Given the description of an element on the screen output the (x, y) to click on. 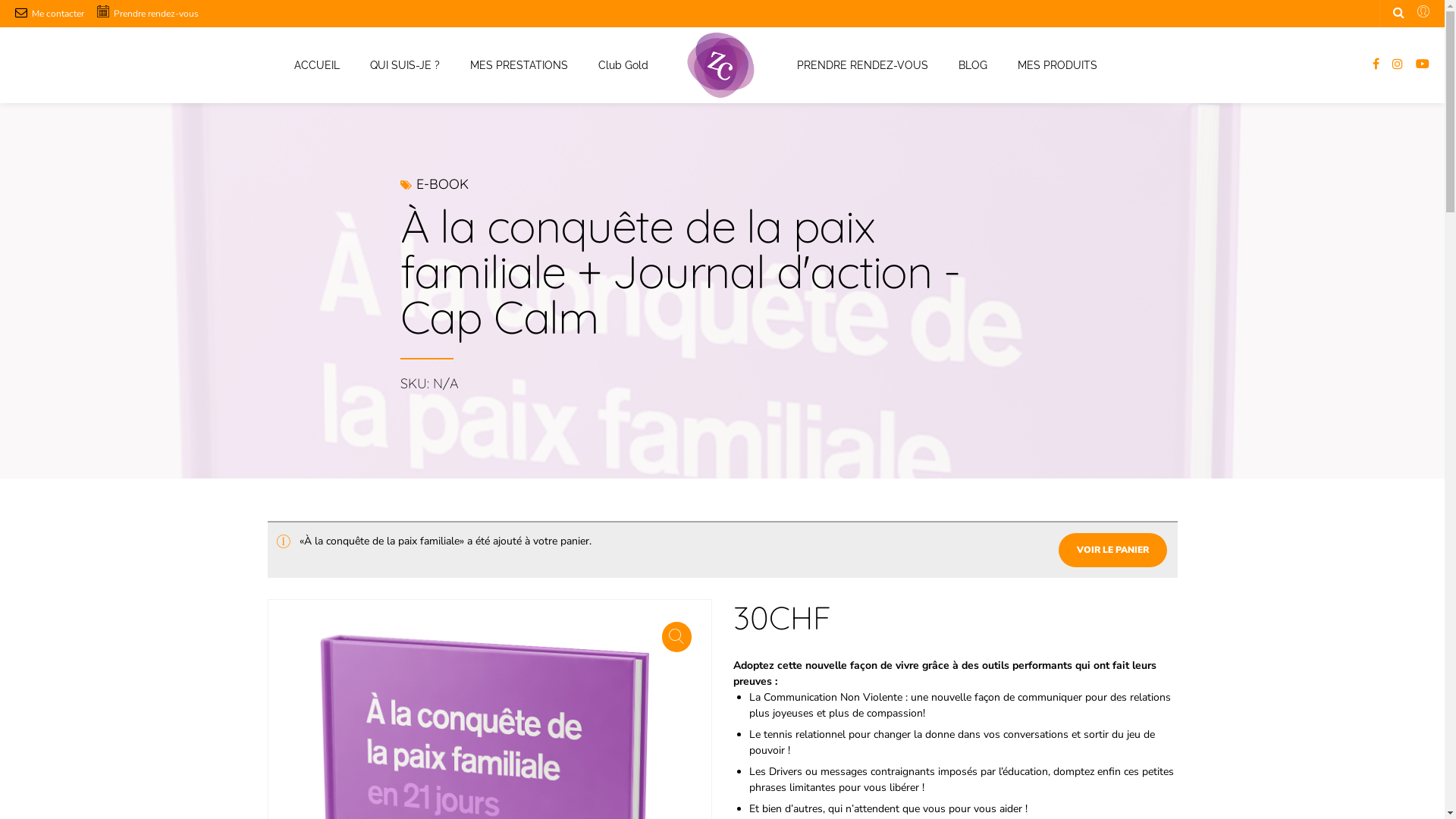
MES PRODUITS Element type: text (1057, 65)
MES PRESTATIONS Element type: text (518, 65)
E-BOOK Element type: text (441, 183)
Me contacter Element type: text (49, 13)
Prendre rendez-vous Element type: text (147, 13)
PRENDRE RENDEZ-VOUS Element type: text (861, 65)
BLOG Element type: text (972, 65)
QUI SUIS-JE ? Element type: text (404, 65)
Club Gold Element type: text (622, 65)
ACCUEIL Element type: text (316, 65)
VOIR LE PANIER Element type: text (1112, 550)
